Given the description of an element on the screen output the (x, y) to click on. 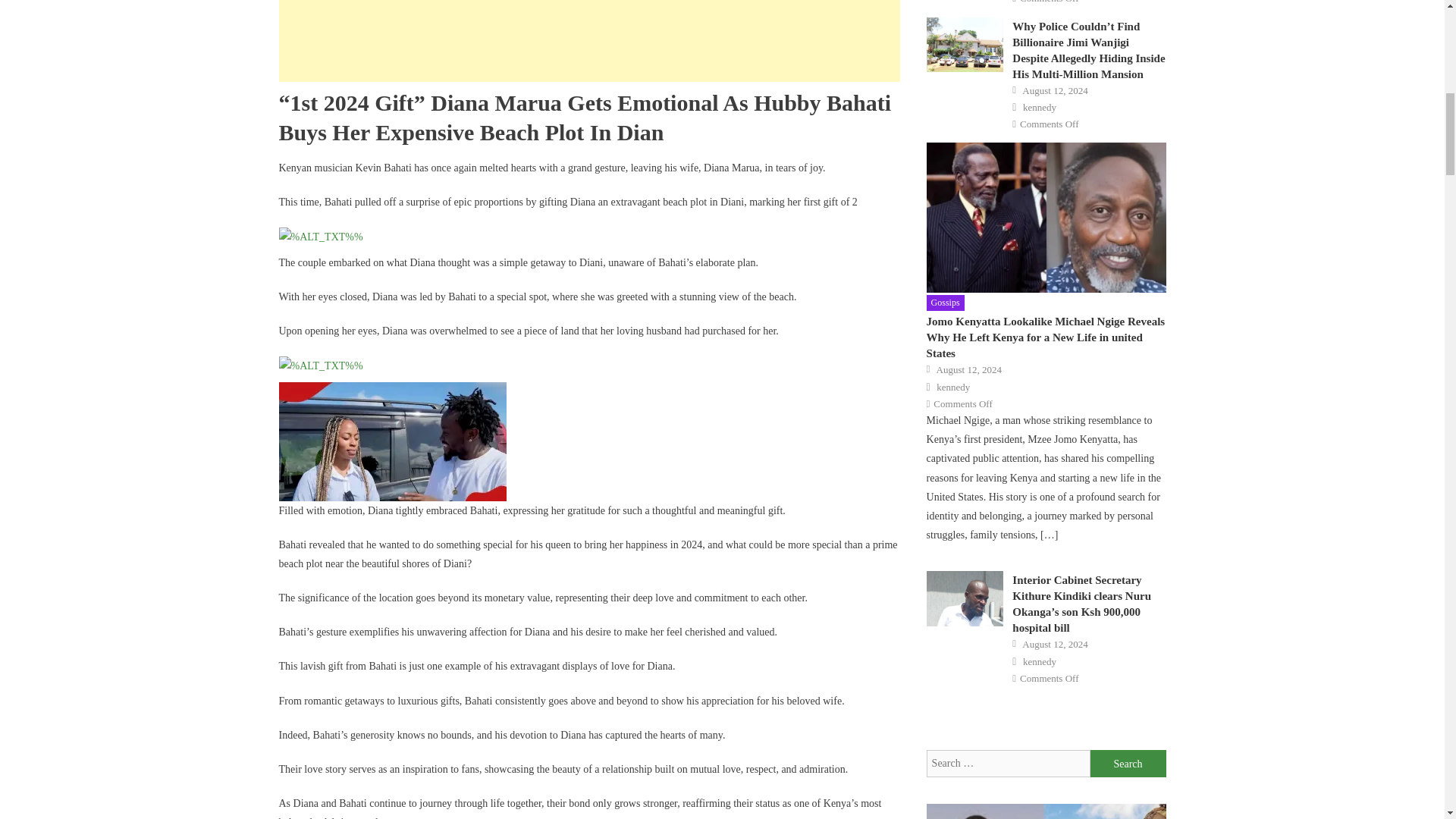
Search (1128, 763)
Search (1128, 763)
